Given the description of an element on the screen output the (x, y) to click on. 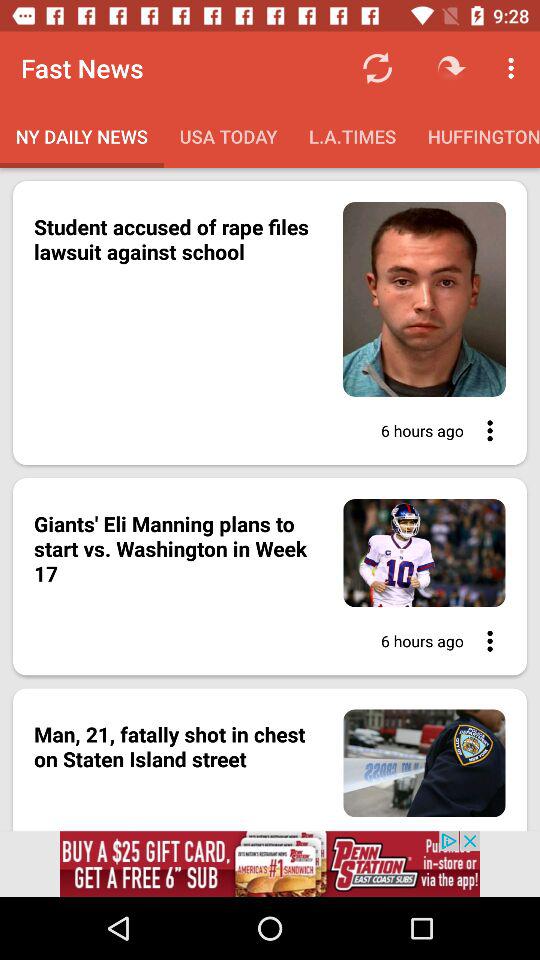
go to the advertised website (270, 864)
